Given the description of an element on the screen output the (x, y) to click on. 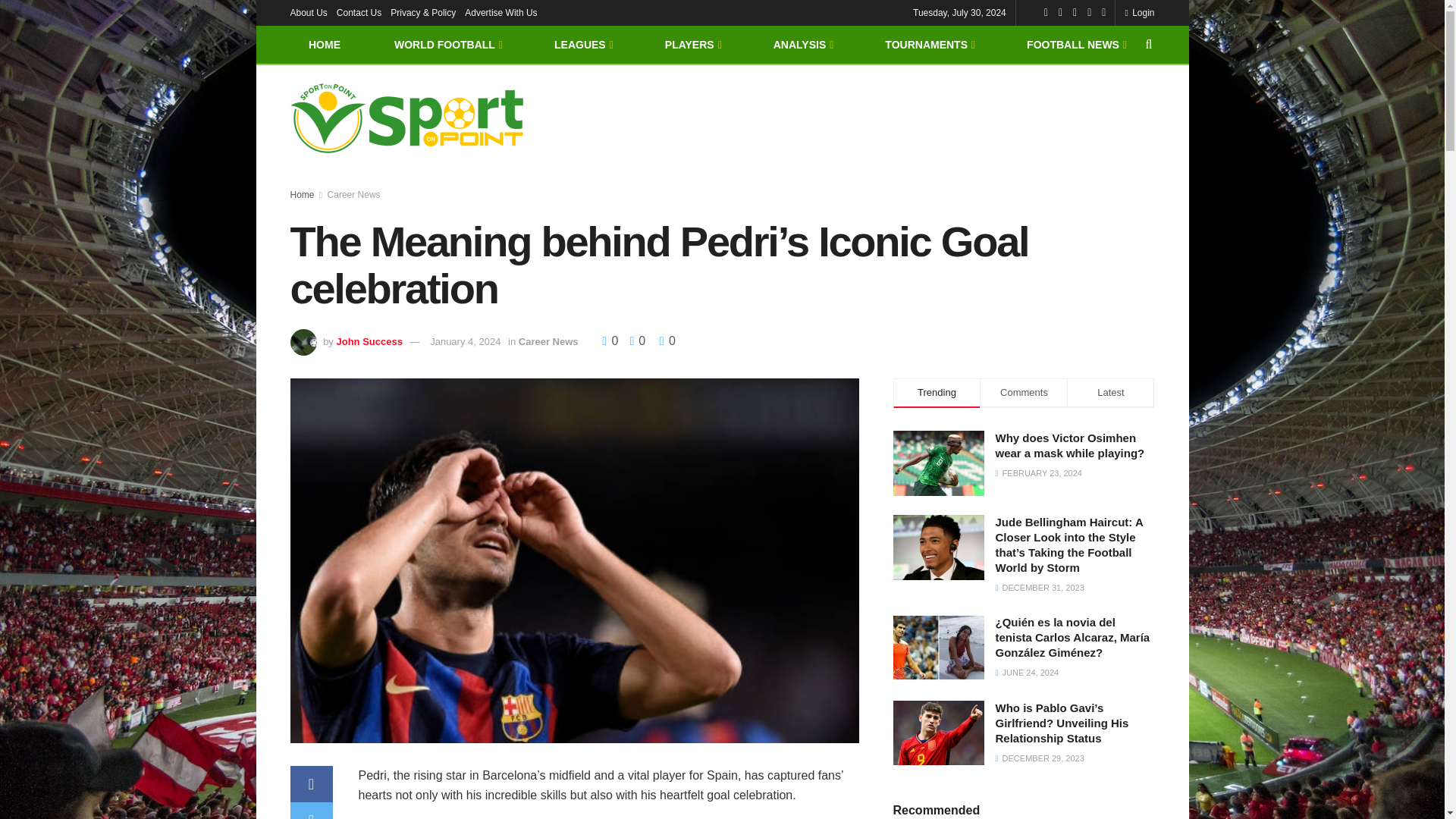
Contact Us (358, 12)
PLAYERS (692, 44)
Login (1139, 12)
LEAGUES (582, 44)
HOME (323, 44)
Advertise With Us (500, 12)
FOOTBALL NEWS (1075, 44)
ANALYSIS (802, 44)
WORLD FOOTBALL (446, 44)
About Us (307, 12)
